Given the description of an element on the screen output the (x, y) to click on. 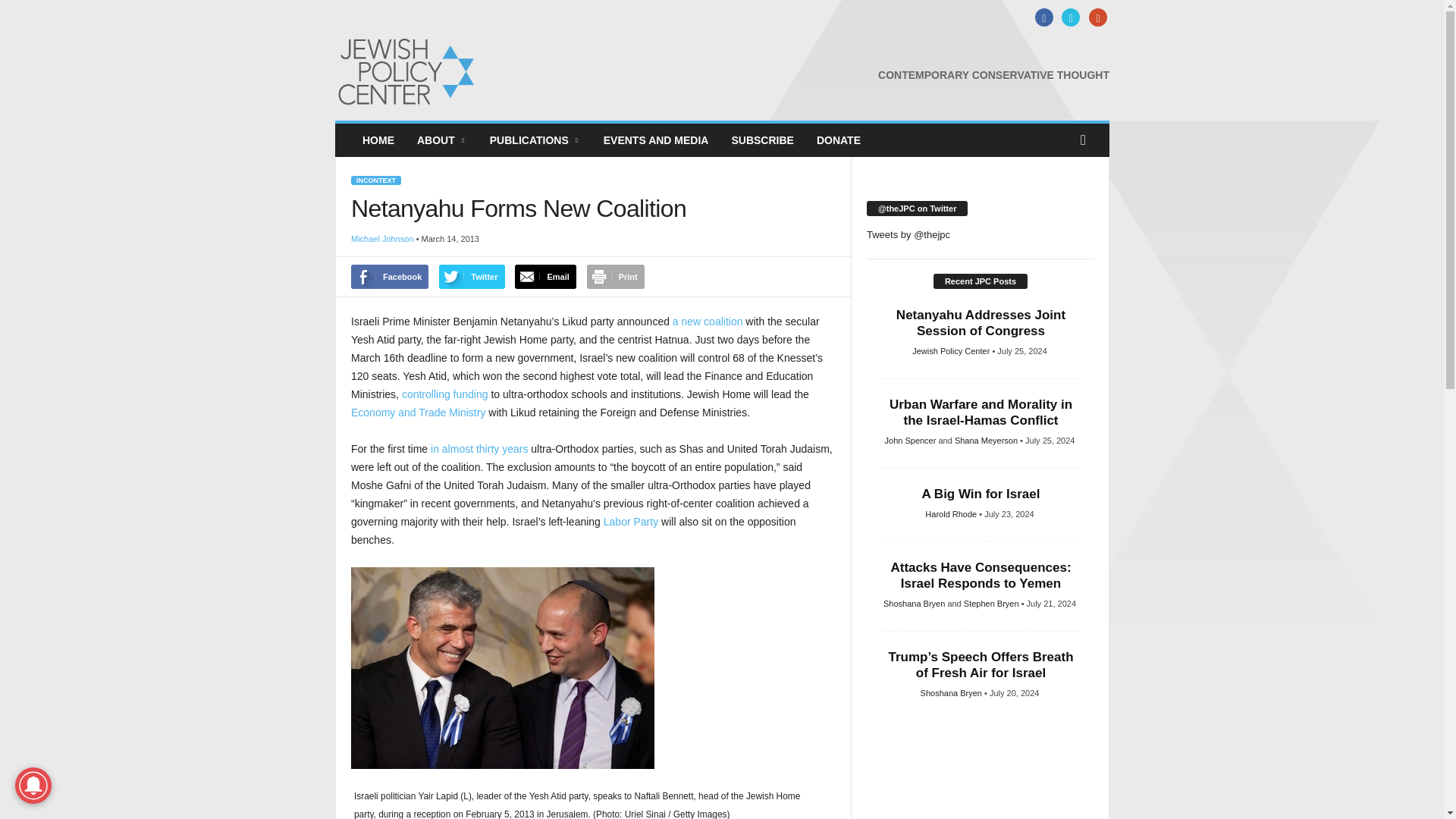
ABOUT (442, 140)
Facebook (1041, 18)
Twitter (1069, 18)
Jewish Policy Center (437, 70)
EVENTS AND MEDIA (656, 140)
PUBLICATIONS (535, 140)
Youtube (1095, 18)
SUBSCRIBE (762, 140)
HOME (378, 140)
DONATE (838, 140)
